Given the description of an element on the screen output the (x, y) to click on. 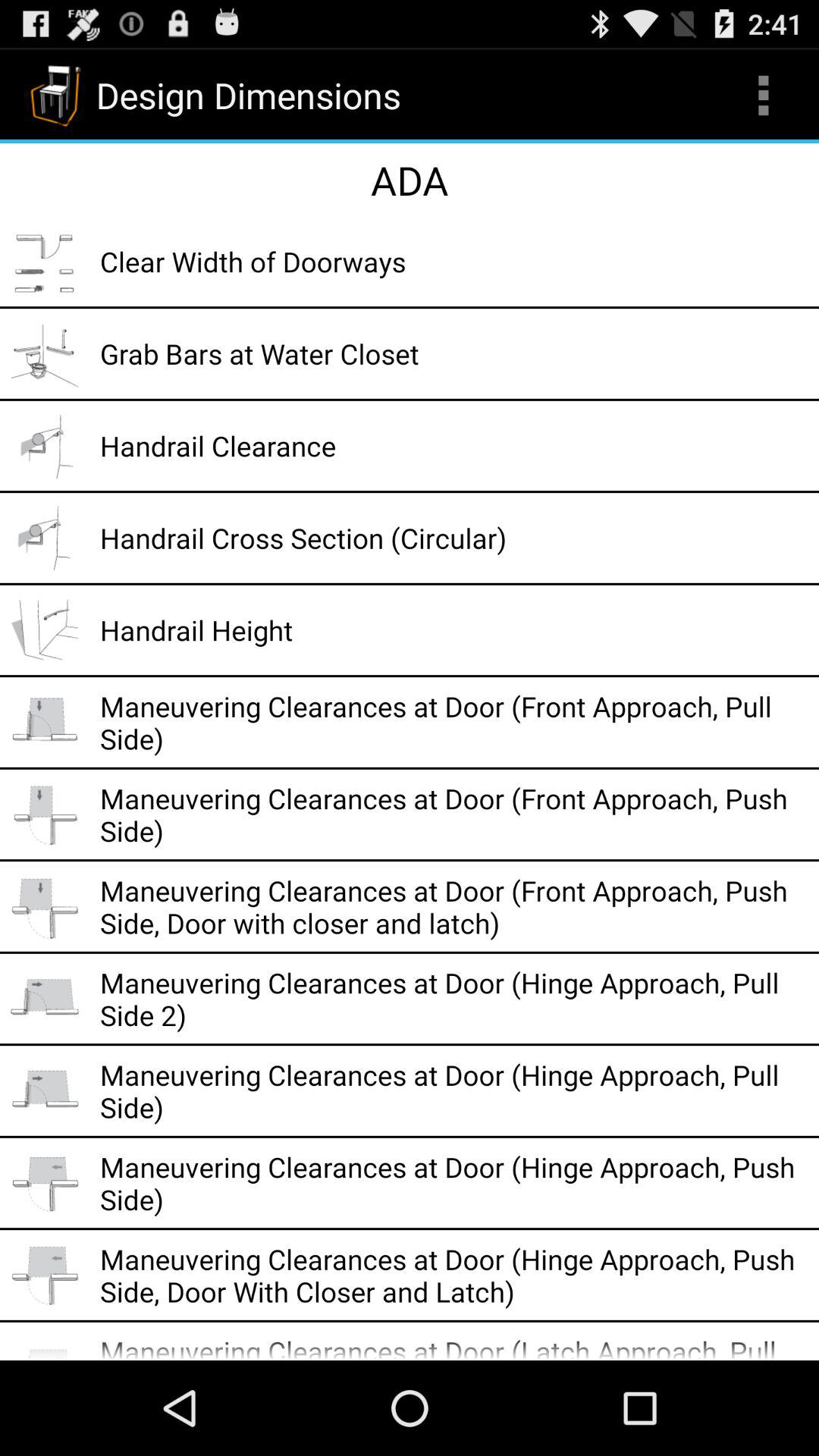
turn on grab bars at (454, 353)
